Given the description of an element on the screen output the (x, y) to click on. 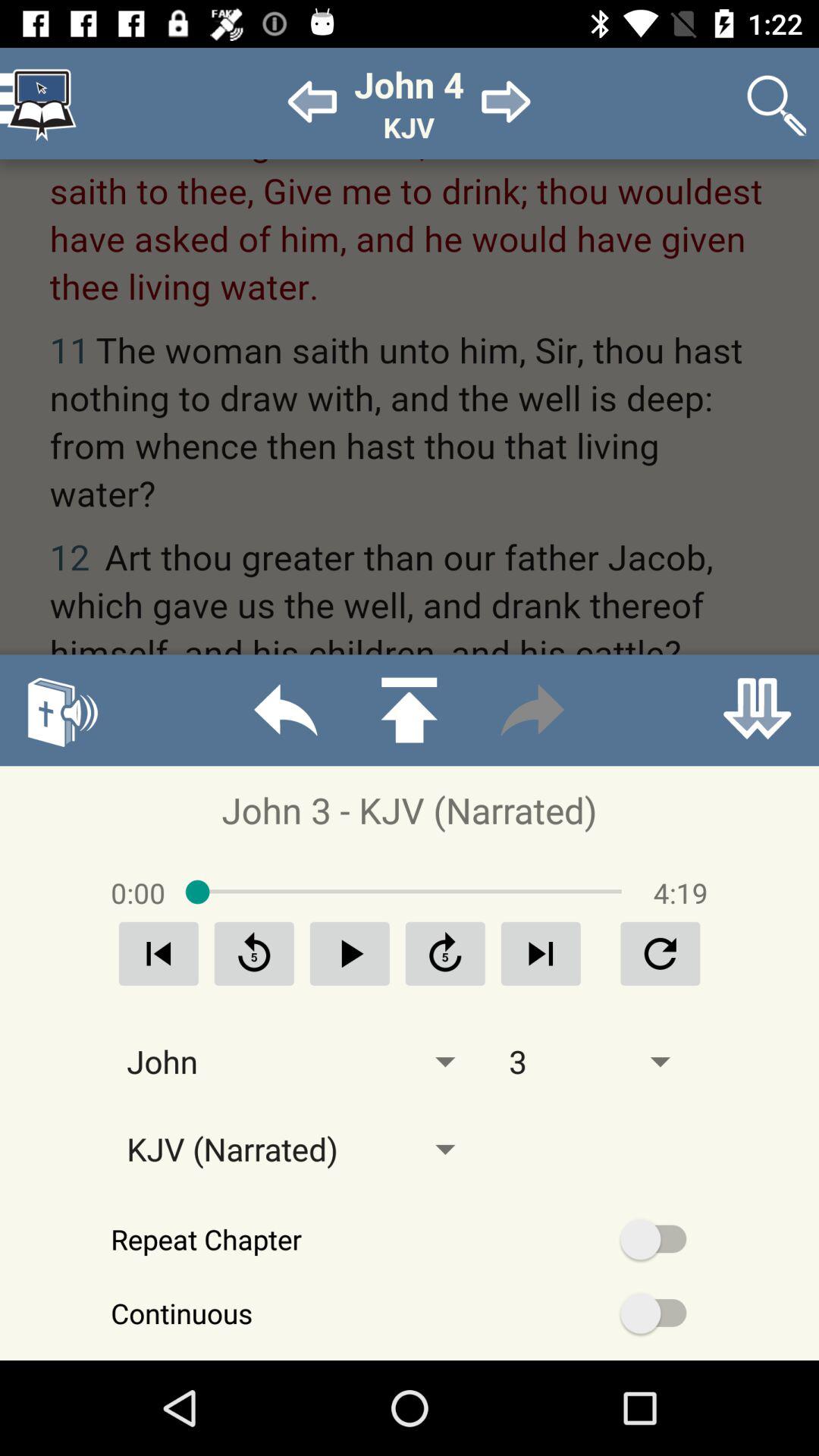
fast forward (532, 709)
